Given the description of an element on the screen output the (x, y) to click on. 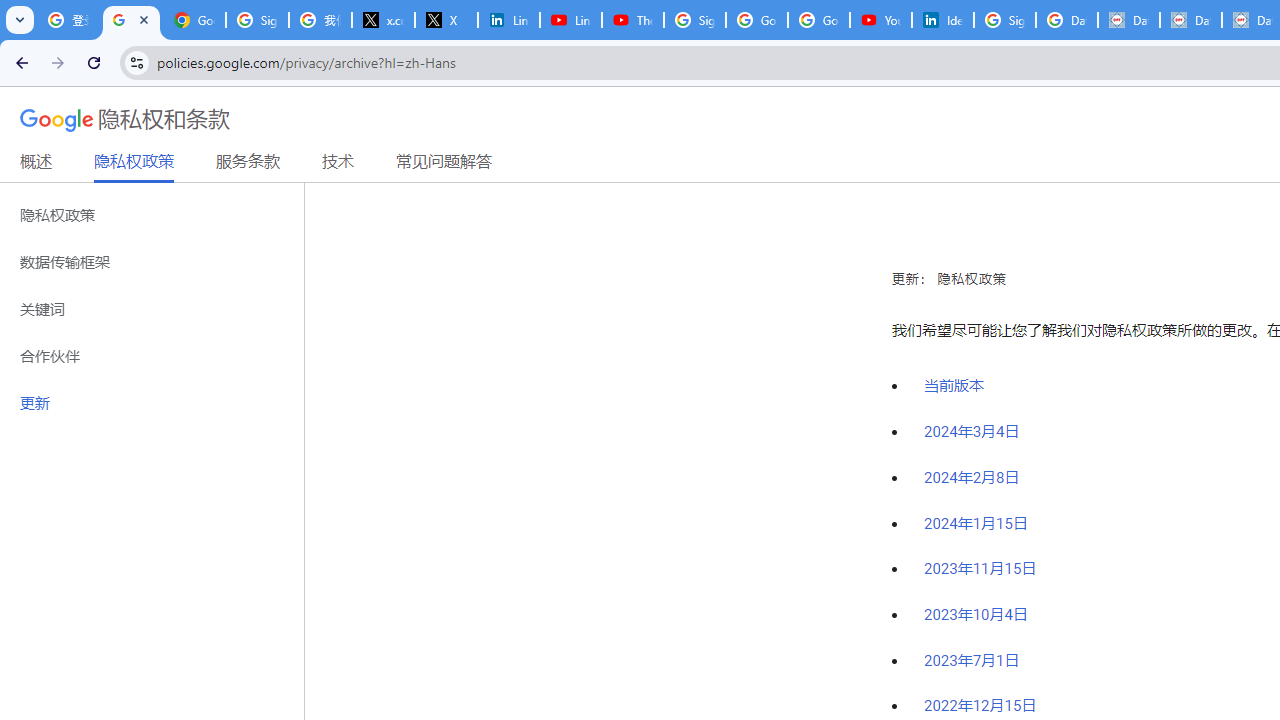
X (445, 20)
LinkedIn Privacy Policy (508, 20)
Sign in - Google Accounts (694, 20)
Data Privacy Framework (1128, 20)
